Given the description of an element on the screen output the (x, y) to click on. 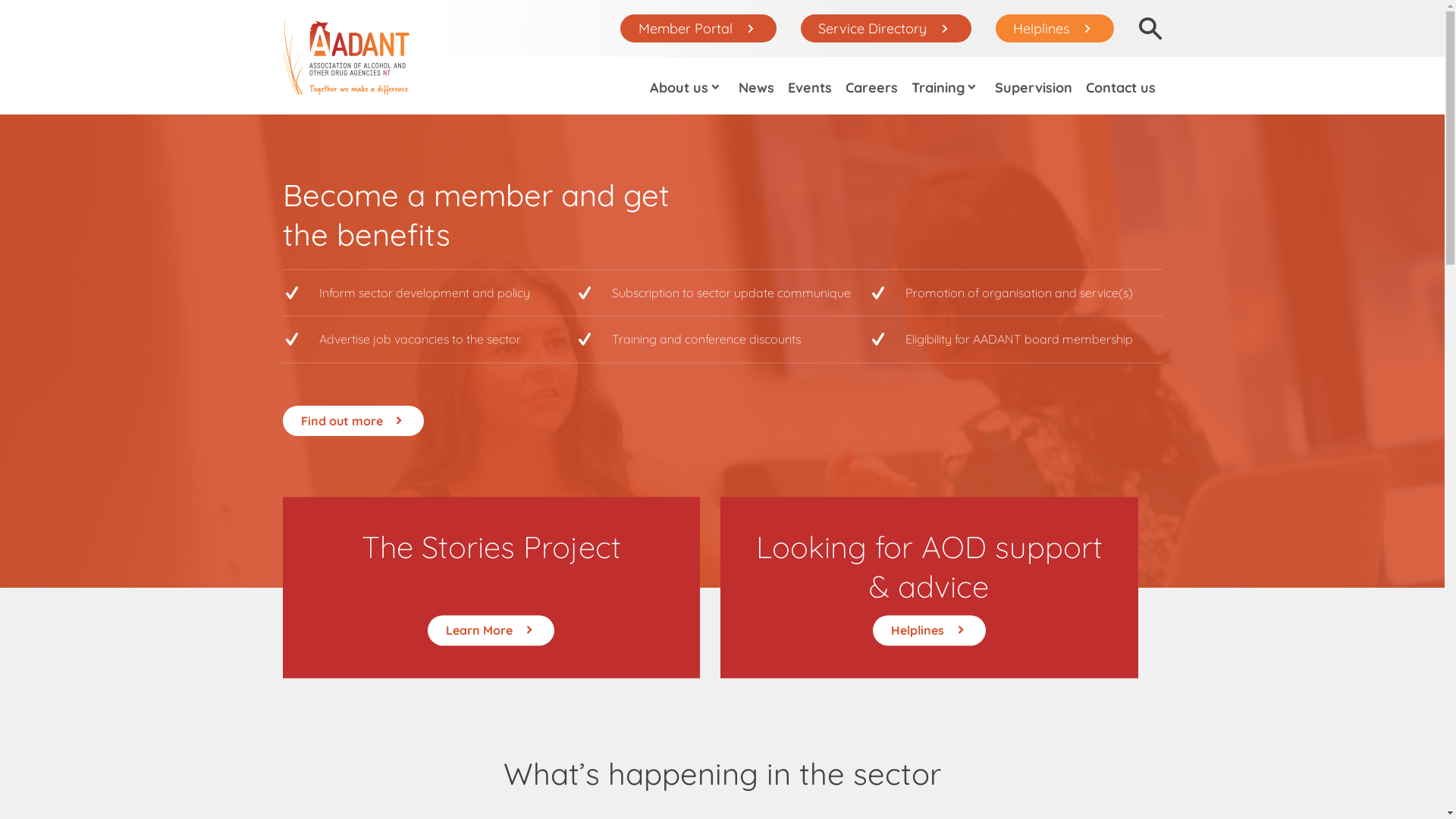
Contact us Element type: text (1119, 86)
Training Element type: text (946, 86)
Service Directory Element type: text (885, 28)
Careers Element type: text (871, 86)
News Element type: text (756, 86)
Learn More Element type: text (490, 630)
Events Element type: text (809, 86)
Skip to main content Element type: text (58, 0)
Helplines Element type: text (1054, 28)
Helplines Element type: text (928, 630)
Supervision Element type: text (1032, 86)
About us Element type: text (687, 86)
Member Portal Element type: text (698, 28)
Find out more Element type: text (352, 420)
